Given the description of an element on the screen output the (x, y) to click on. 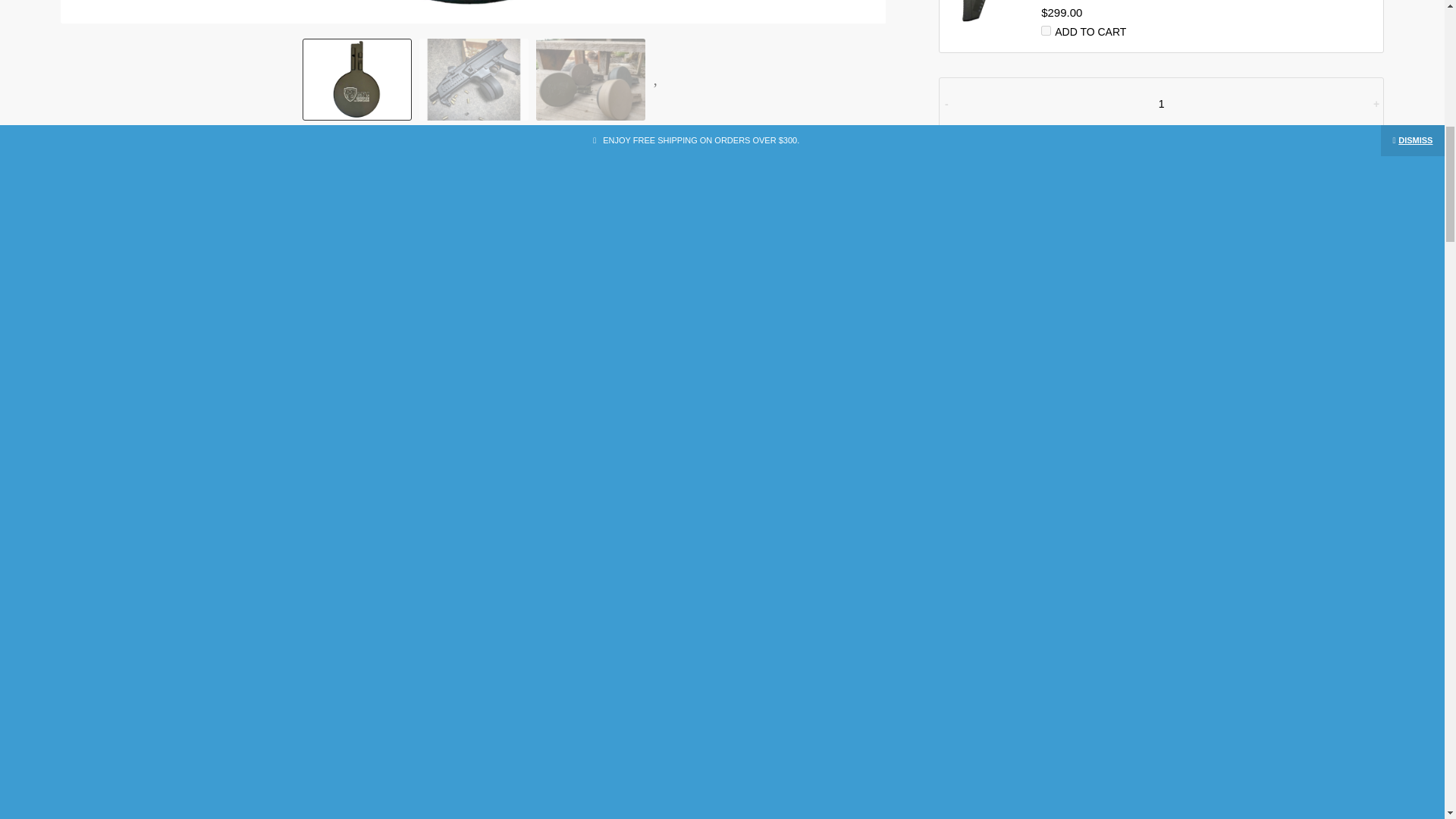
1 (1161, 103)
109096 (1046, 30)
